Given the description of an element on the screen output the (x, y) to click on. 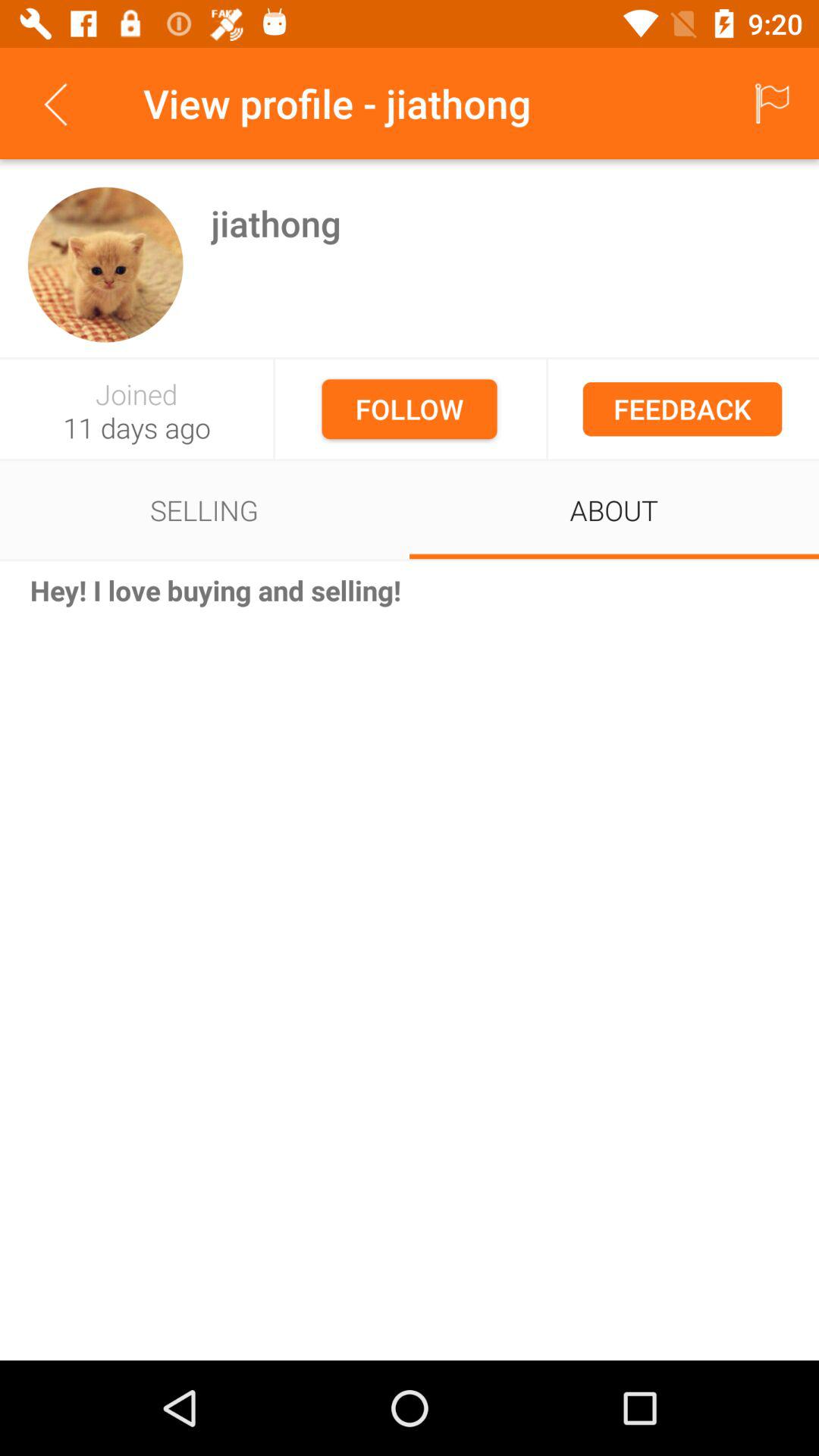
tap item to the left of the view profile - jiathong (55, 103)
